Given the description of an element on the screen output the (x, y) to click on. 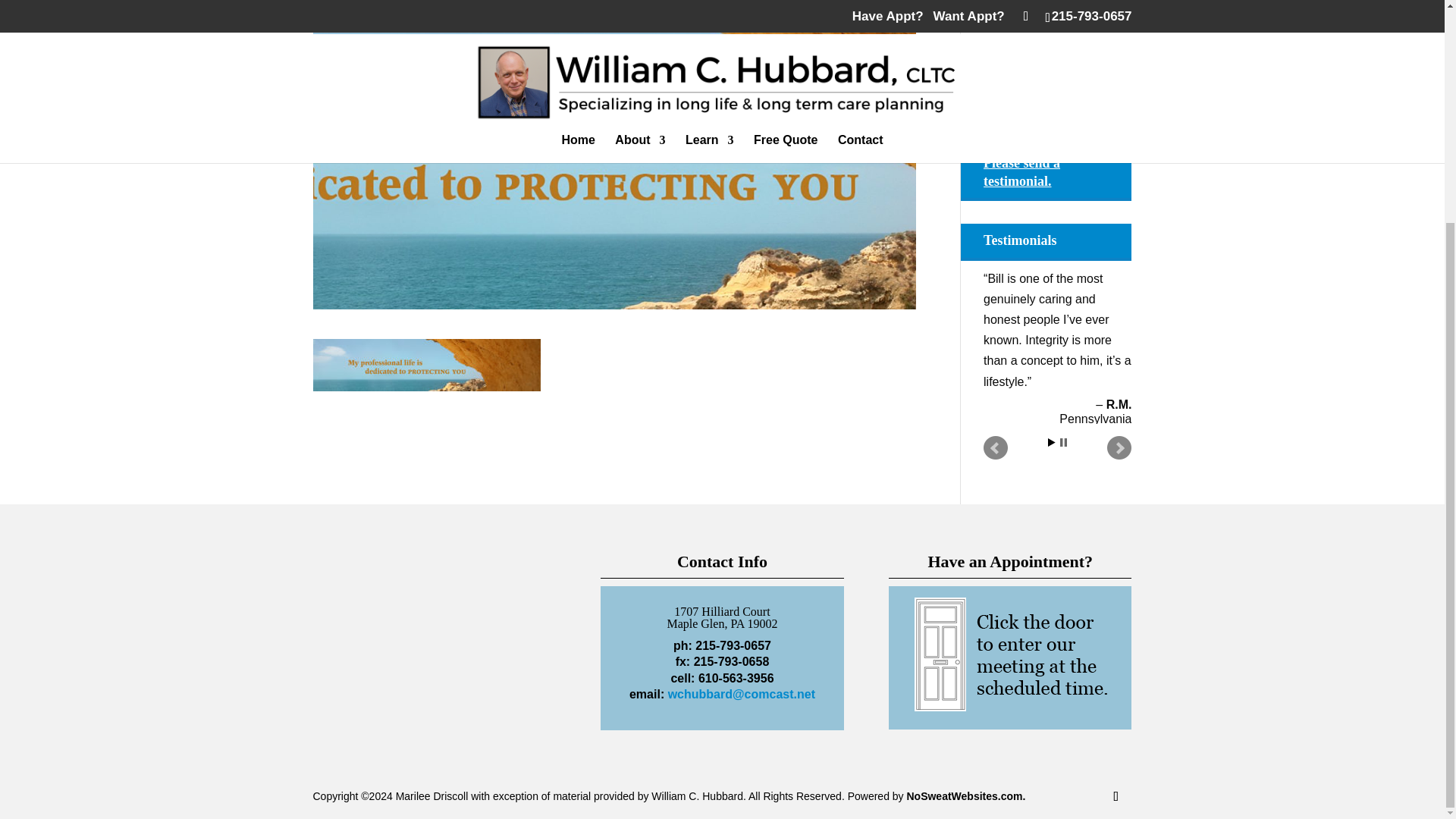
Free Quote (1015, 44)
NoSweatWebsites (965, 796)
Start (1051, 442)
Contact (1006, 70)
Next (1118, 447)
Prev (995, 447)
Videos (1003, 19)
Please send a testimonial. (1054, 171)
